Given the description of an element on the screen output the (x, y) to click on. 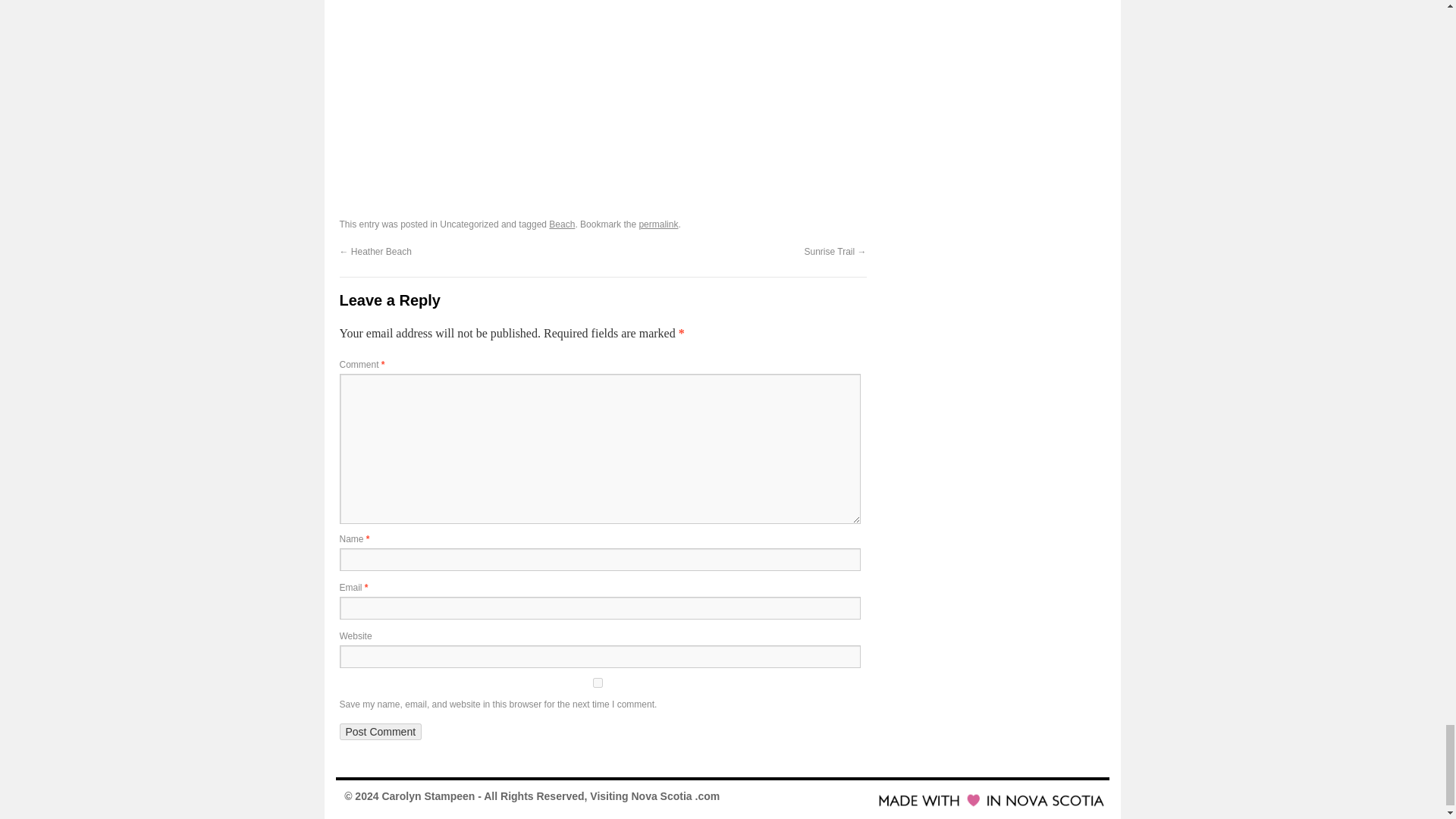
Post Comment (380, 731)
Permalink to Gulf Shore Provincial Park (658, 224)
yes (597, 682)
